Given the description of an element on the screen output the (x, y) to click on. 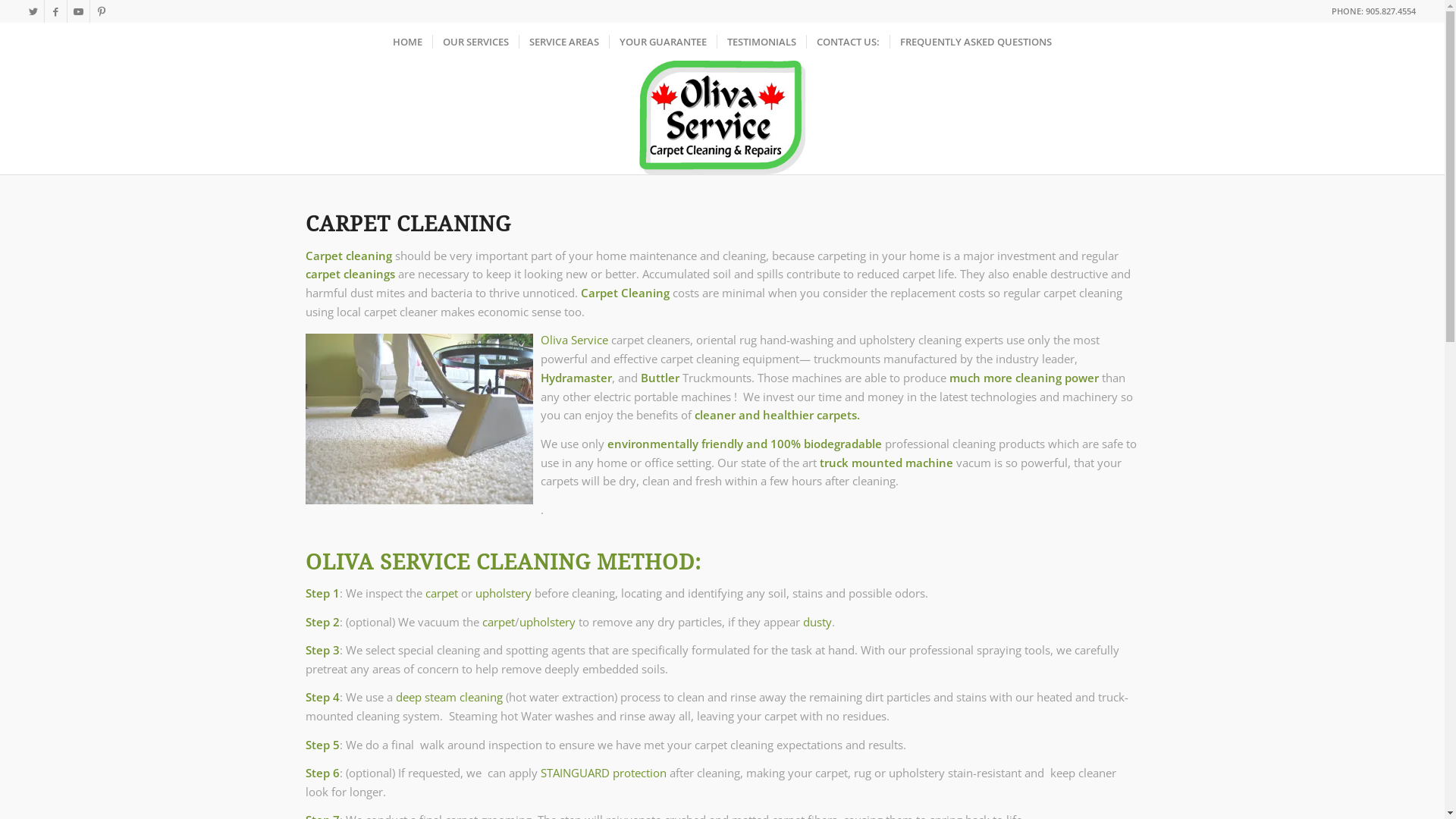
YOUR GUARANTEE Element type: text (662, 41)
upholstery Element type: text (502, 592)
FREQUENTLY ASKED QUESTIONS Element type: text (975, 41)
upholstery Element type: text (546, 621)
Facebook Element type: hover (55, 11)
Twitter Element type: hover (32, 11)
STAINGUARD protection Element type: text (602, 772)
CONTACT US: Element type: text (847, 41)
Oliva Service Element type: text (573, 339)
HOME Element type: text (407, 41)
oliva logo 2005 small300X205 Element type: hover (722, 117)
SERVICE AREAS Element type: text (563, 41)
Pinterest Element type: hover (101, 11)
carpet Element type: text (498, 621)
OUR SERVICES Element type: text (475, 41)
Youtube Element type: hover (78, 11)
dusty Element type: text (816, 621)
deep steam cleaning Element type: text (448, 696)
TESTIMONIALS Element type: text (761, 41)
carpet Element type: text (440, 592)
